Given the description of an element on the screen output the (x, y) to click on. 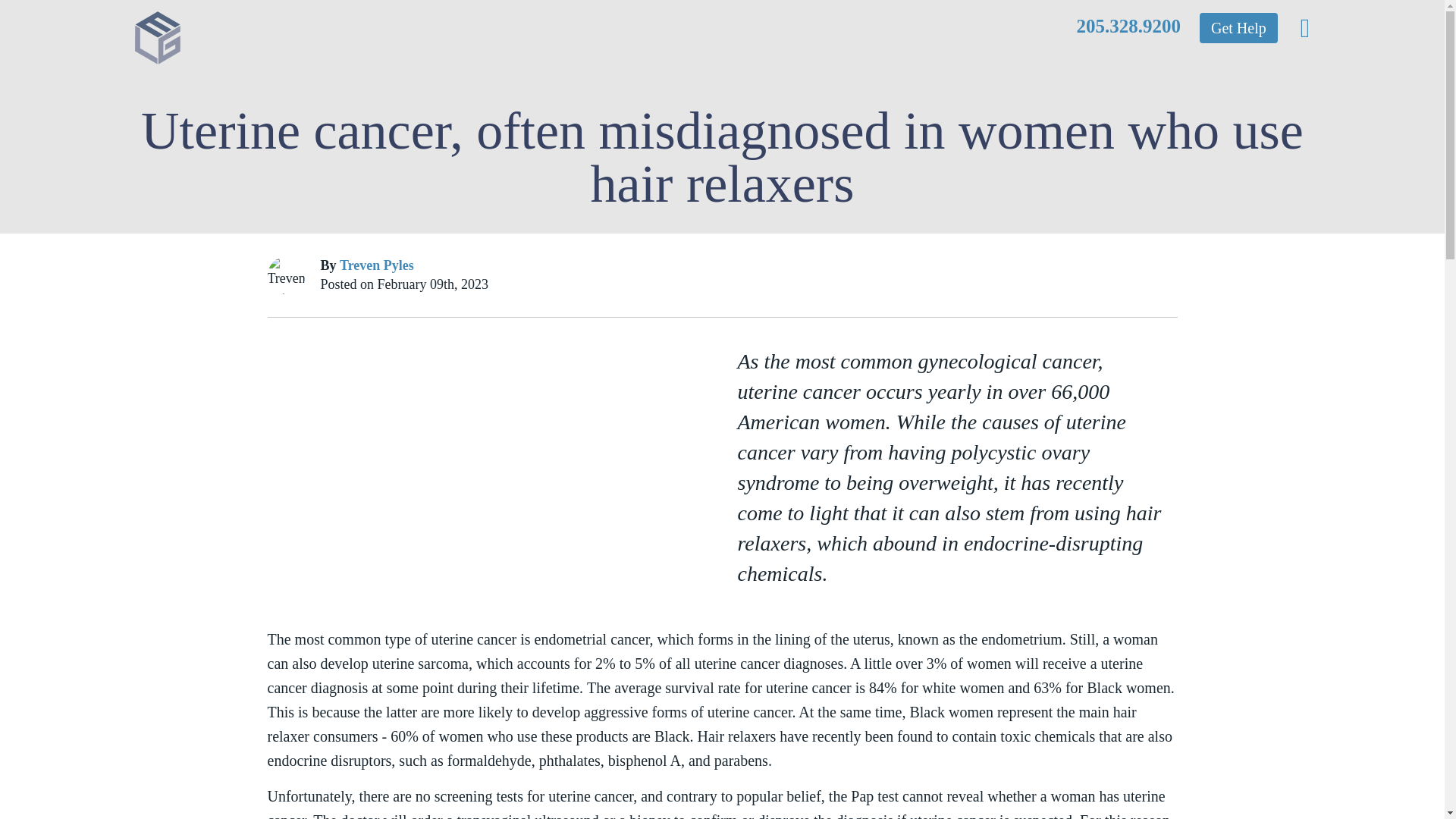
205.328.9200 (1127, 26)
Treven Pyles (376, 264)
Get Help (1238, 28)
